Given the description of an element on the screen output the (x, y) to click on. 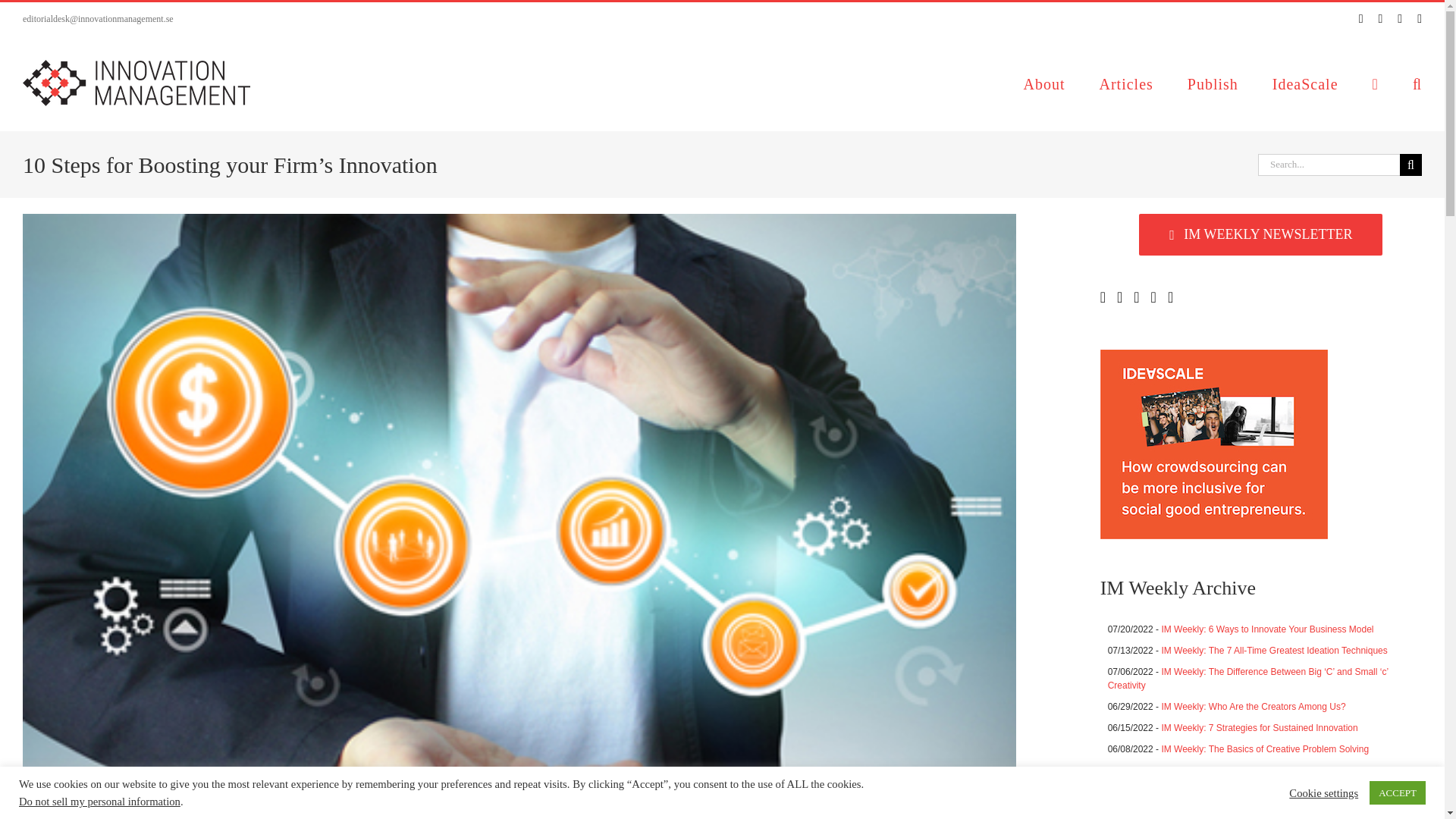
Twitter (1360, 19)
Publish (1213, 82)
Email (1419, 19)
About (1043, 82)
Search (1417, 82)
Facebook (1379, 19)
LinkedIn (1399, 19)
Articles (1126, 82)
IdeaScale (1305, 82)
